Given the description of an element on the screen output the (x, y) to click on. 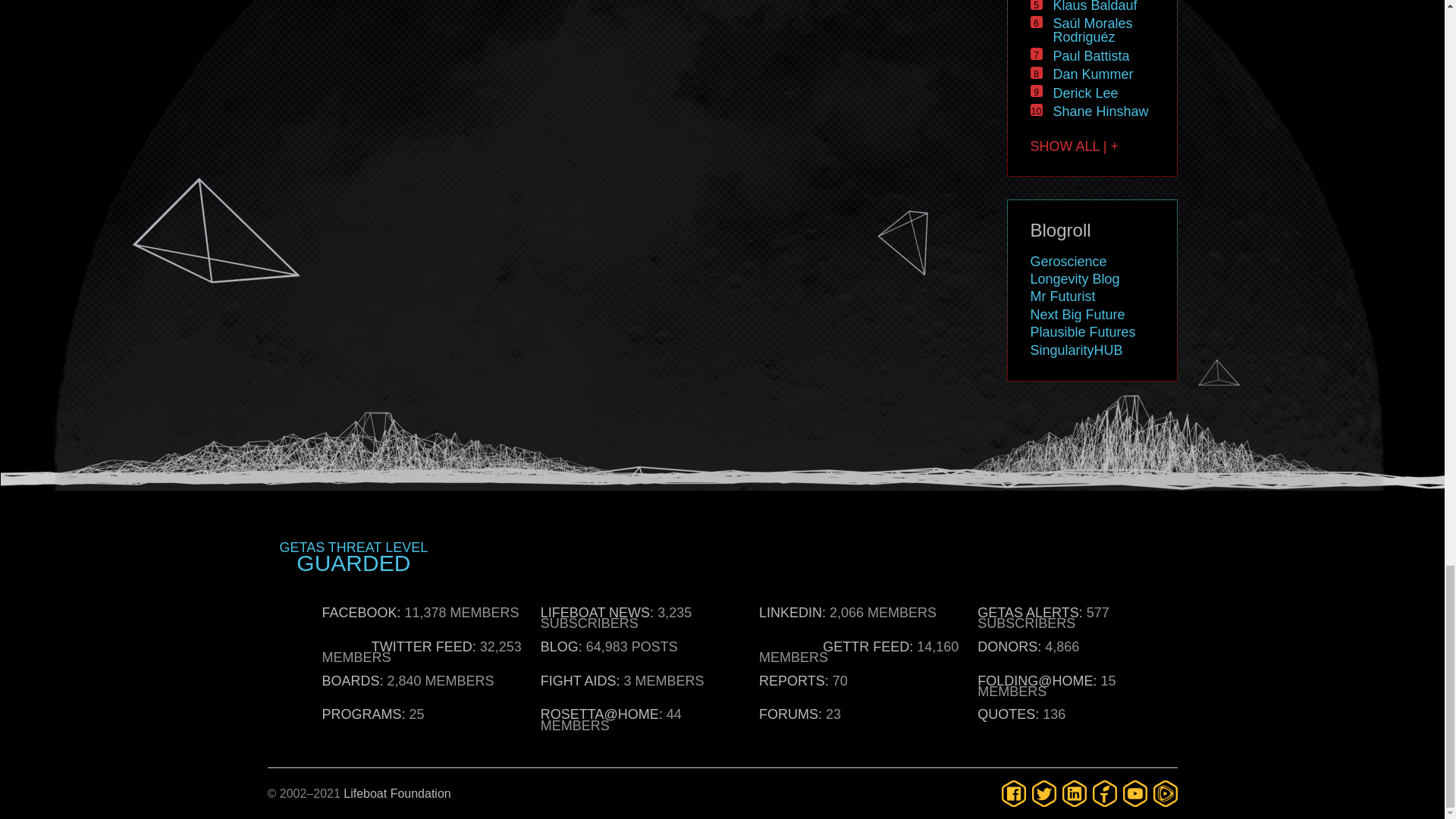
2091 posts by Paul Battista (1090, 55)
1371 posts by Derick Lee (1085, 92)
1200 posts by Shane Hinshaw (1100, 111)
1654 posts by Dan Kummer (1092, 73)
2590 posts by Klaus Baldauf (1094, 6)
